Given the description of an element on the screen output the (x, y) to click on. 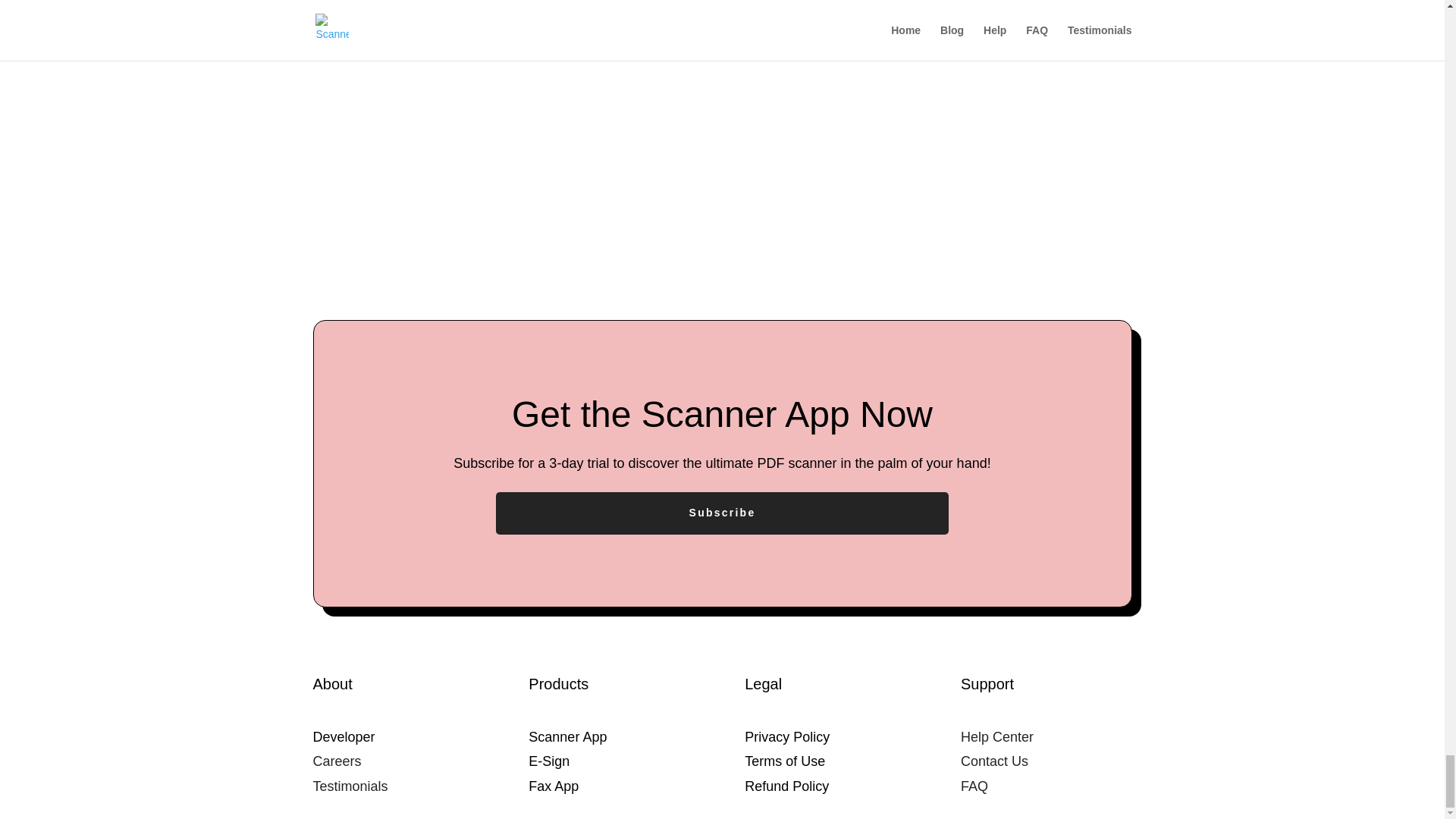
Contact Us (993, 761)
Help Center (996, 736)
Careers (337, 761)
Subscribe (722, 513)
Testimonials (350, 785)
FAQ (974, 785)
